Given the description of an element on the screen output the (x, y) to click on. 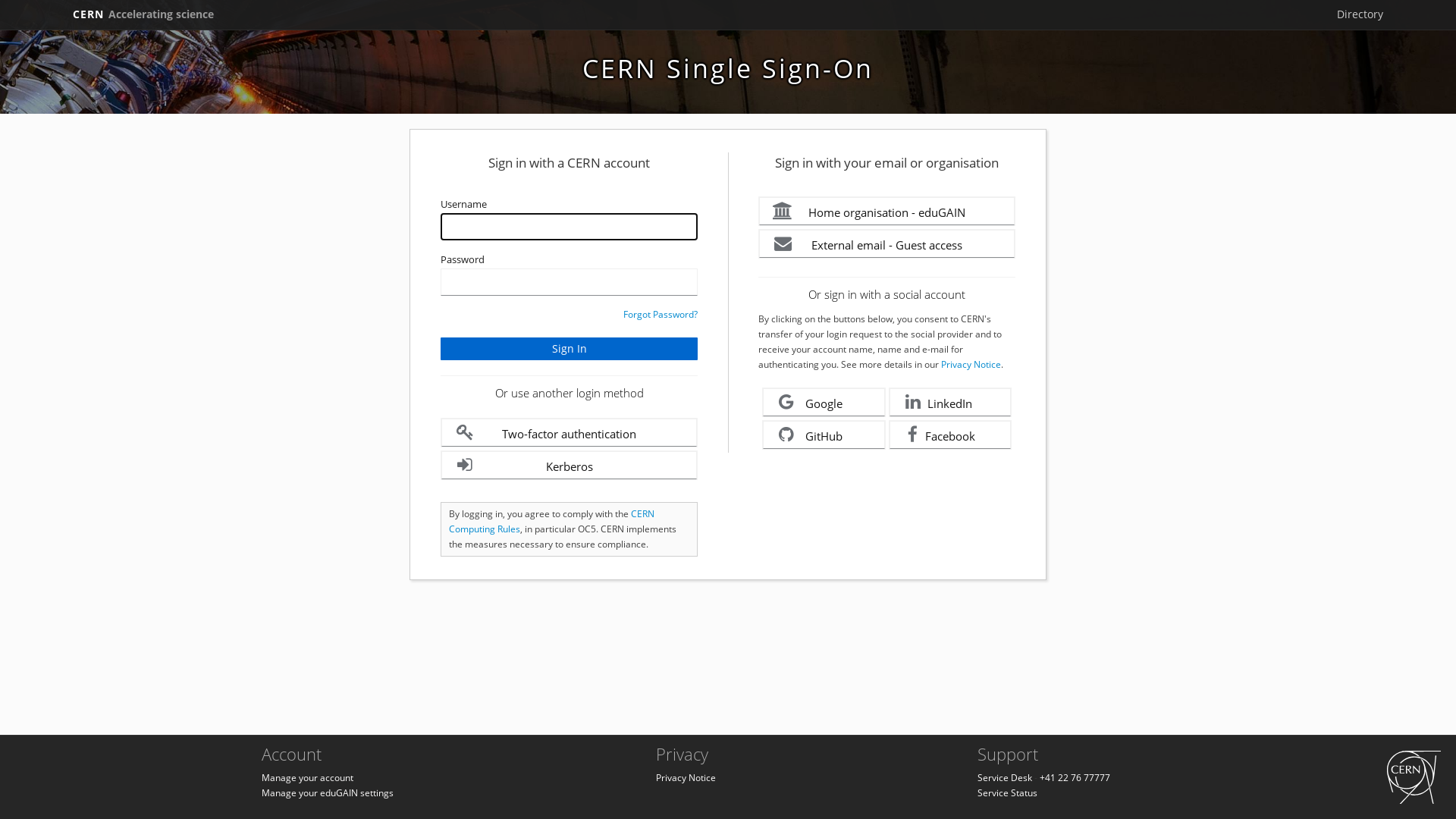
+41 22 76 77777 Element type: text (1074, 777)
Two-factor authentication Element type: text (568, 432)
CERN Accelerating science Element type: text (142, 14)
External email - Guest access Element type: text (886, 243)
Privacy Notice Element type: text (685, 777)
CERN Computing Rules Element type: text (551, 521)
Manage your eduGAIN settings Element type: text (327, 792)
Service Desk Element type: text (1004, 777)
Directory Element type: text (1359, 14)
LinkedIn Element type: text (950, 402)
Service Status Element type: text (1007, 792)
Kerberos Element type: text (568, 465)
Sign In Element type: text (568, 348)
Forgot Password? Element type: text (660, 313)
Facebook Element type: text (950, 434)
Google Element type: text (823, 402)
Privacy Notice Element type: text (971, 363)
Home organisation - eduGAIN Element type: text (886, 210)
Manage your account Element type: text (307, 777)
GitHub Element type: text (823, 434)
